Given the description of an element on the screen output the (x, y) to click on. 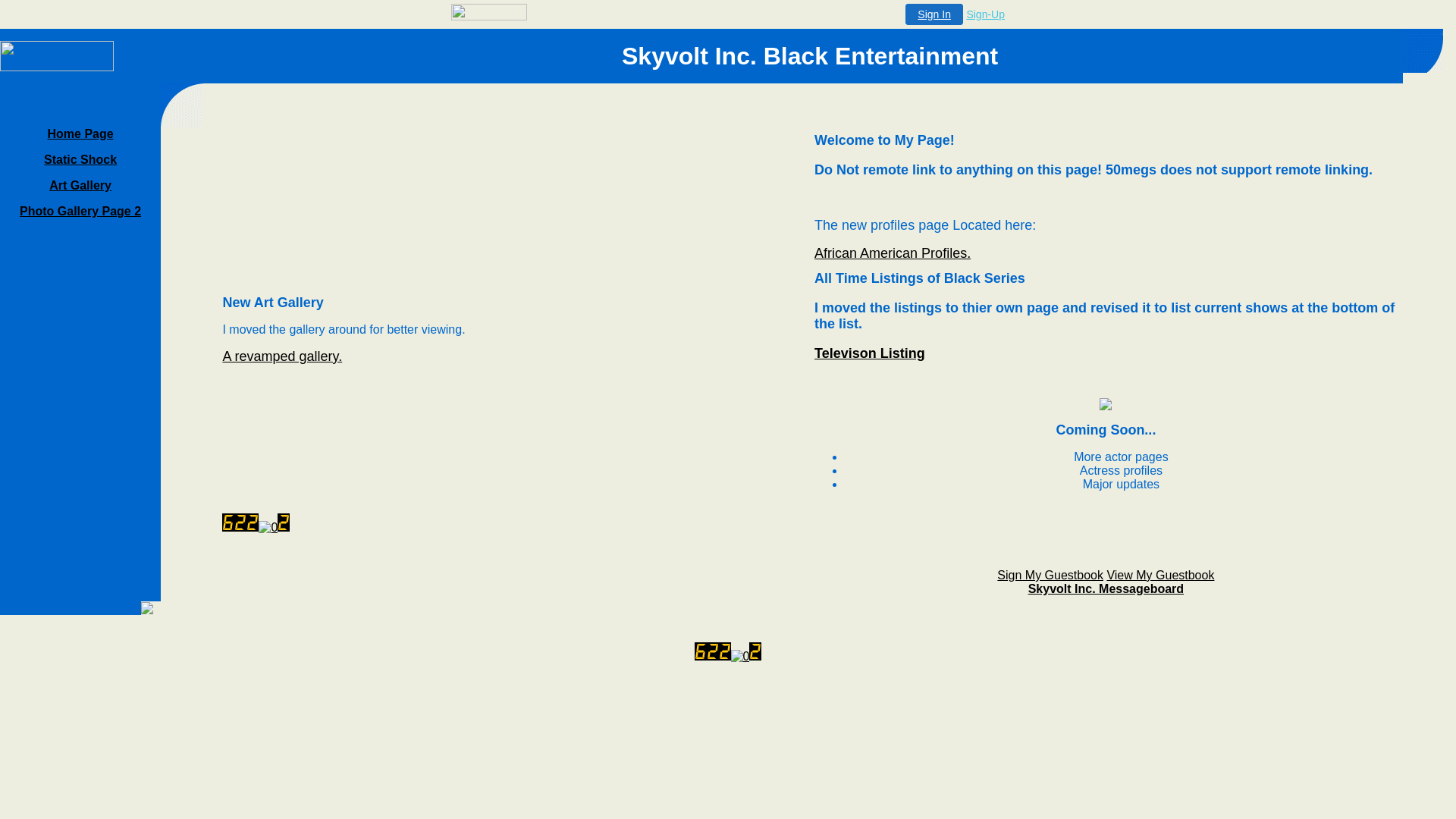
New Art Gallery (282, 356)
Sign-Up (985, 14)
Static Shock (79, 159)
Home Page (80, 133)
Sign In (933, 14)
Skyvolt Inc. Messageboard (1105, 588)
Televison Listing (868, 353)
Art Gallery (80, 185)
View My Guestbook (1160, 574)
African American Profiles (892, 253)
Photo Gallery Page 2 (80, 210)
A revamped gallery. (282, 356)
African American Profiles. (892, 253)
Sign My Guestbook (1050, 574)
